Given the description of an element on the screen output the (x, y) to click on. 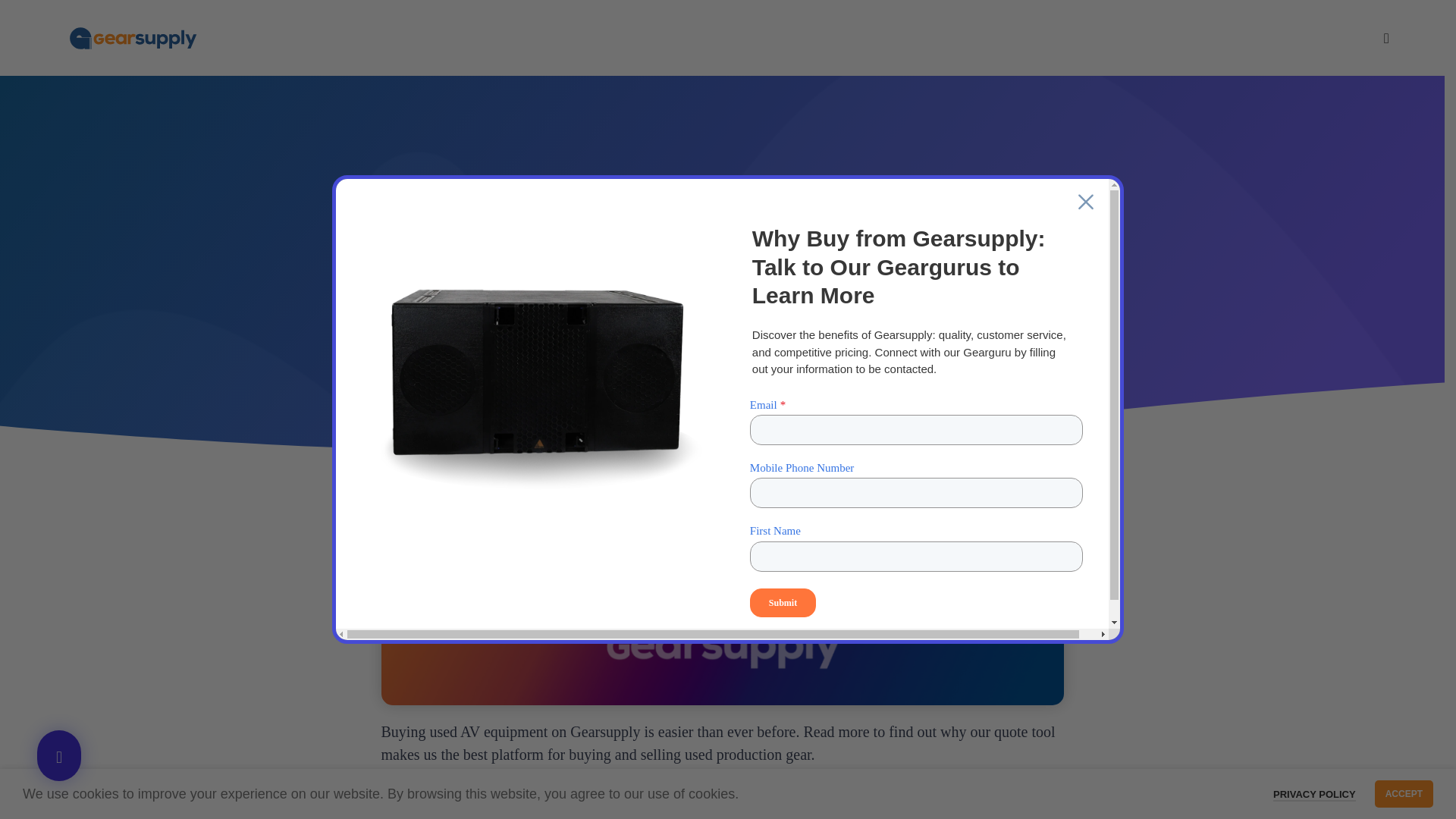
Gearsupply (636, 288)
January 29, 2021 (786, 288)
Log in (1263, 286)
PRIVACY POLICY (1313, 794)
ACCEPT (1403, 793)
